Given the description of an element on the screen output the (x, y) to click on. 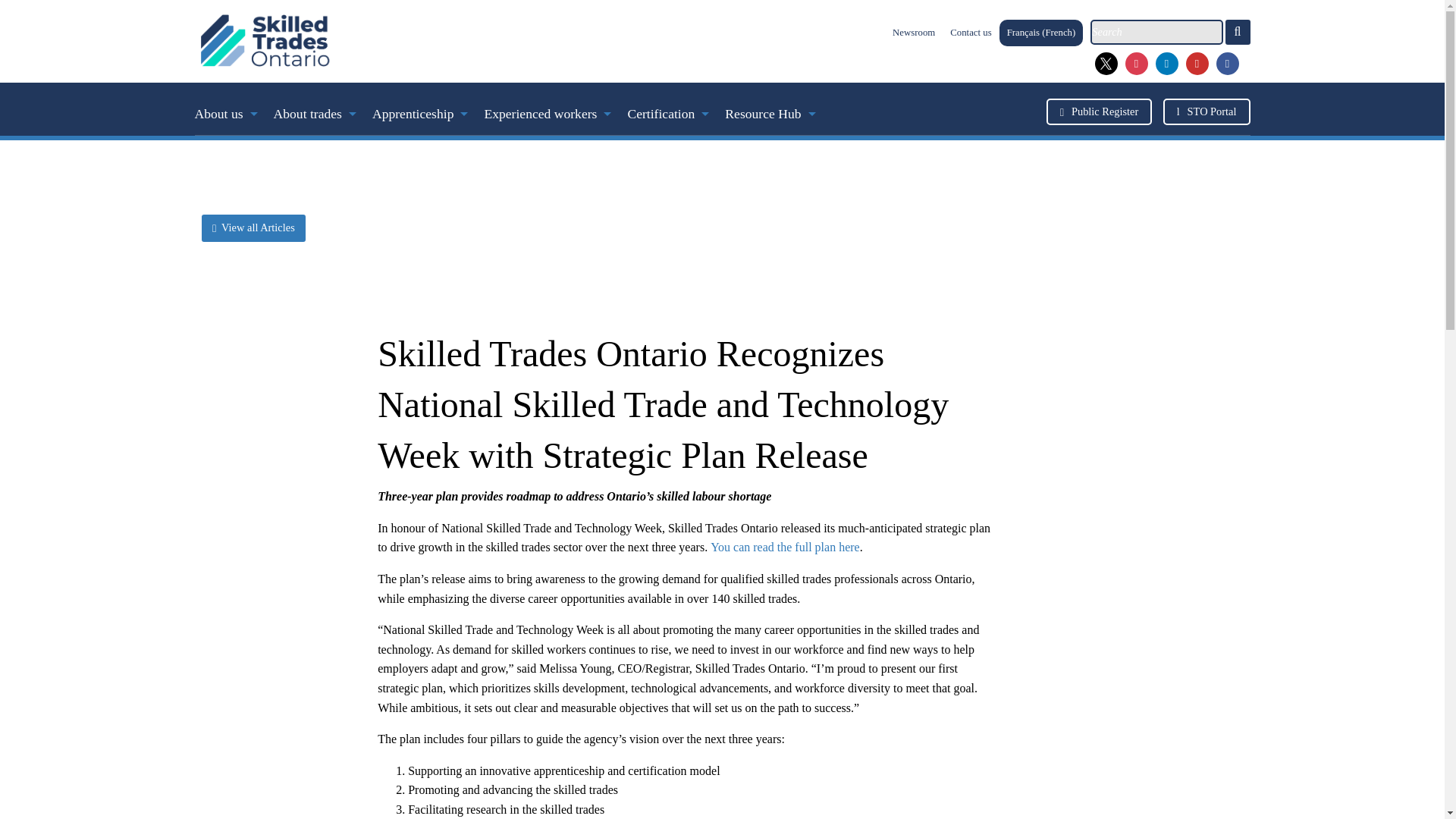
Contact us (970, 32)
French (1041, 32)
Newsroom (913, 32)
